Given the description of an element on the screen output the (x, y) to click on. 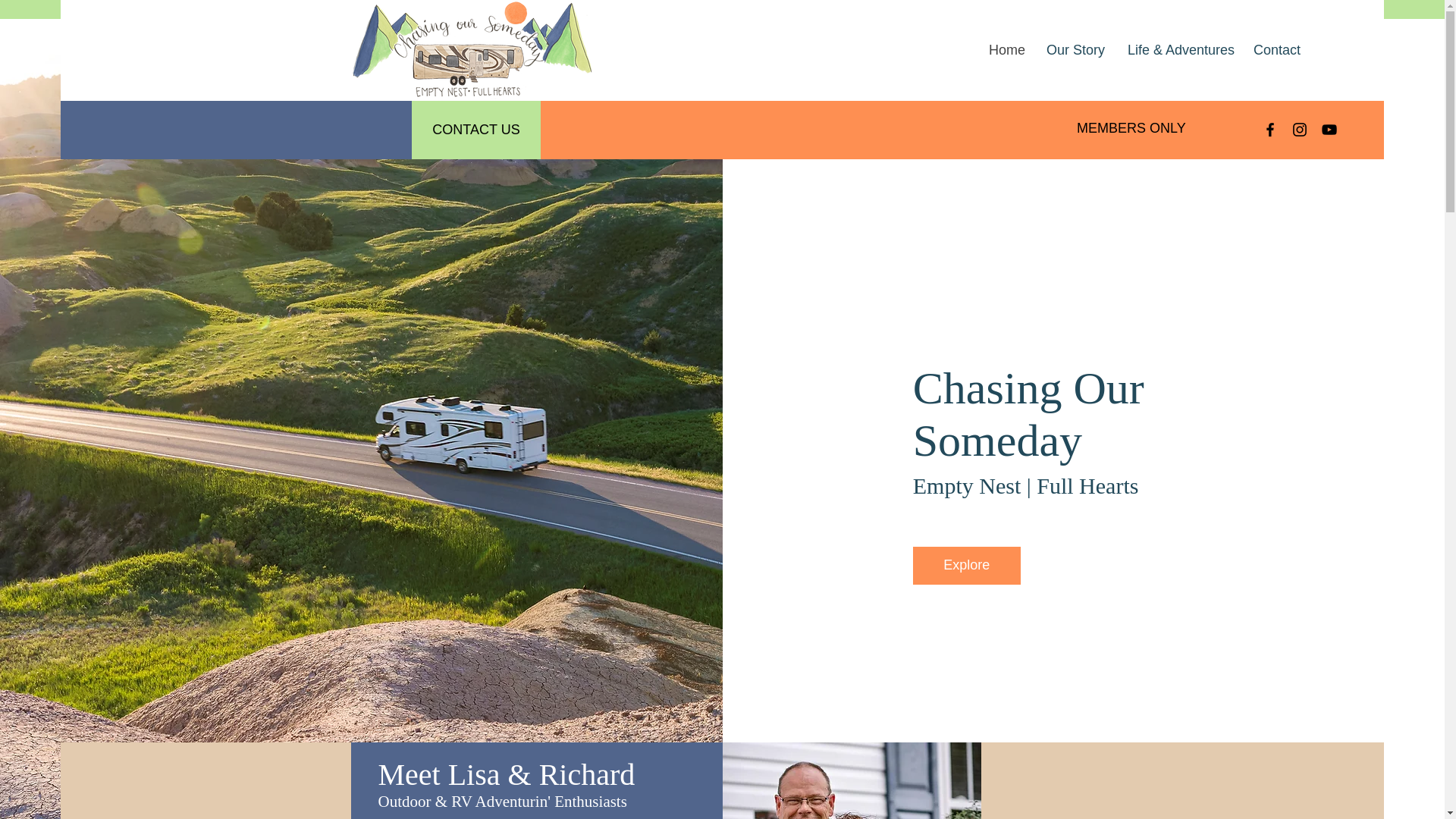
Our Story (1075, 49)
MEMBERS ONLY (1131, 127)
Home (1005, 49)
Explore (966, 565)
Contact (1275, 49)
CONTACT US (476, 129)
